Given the description of an element on the screen output the (x, y) to click on. 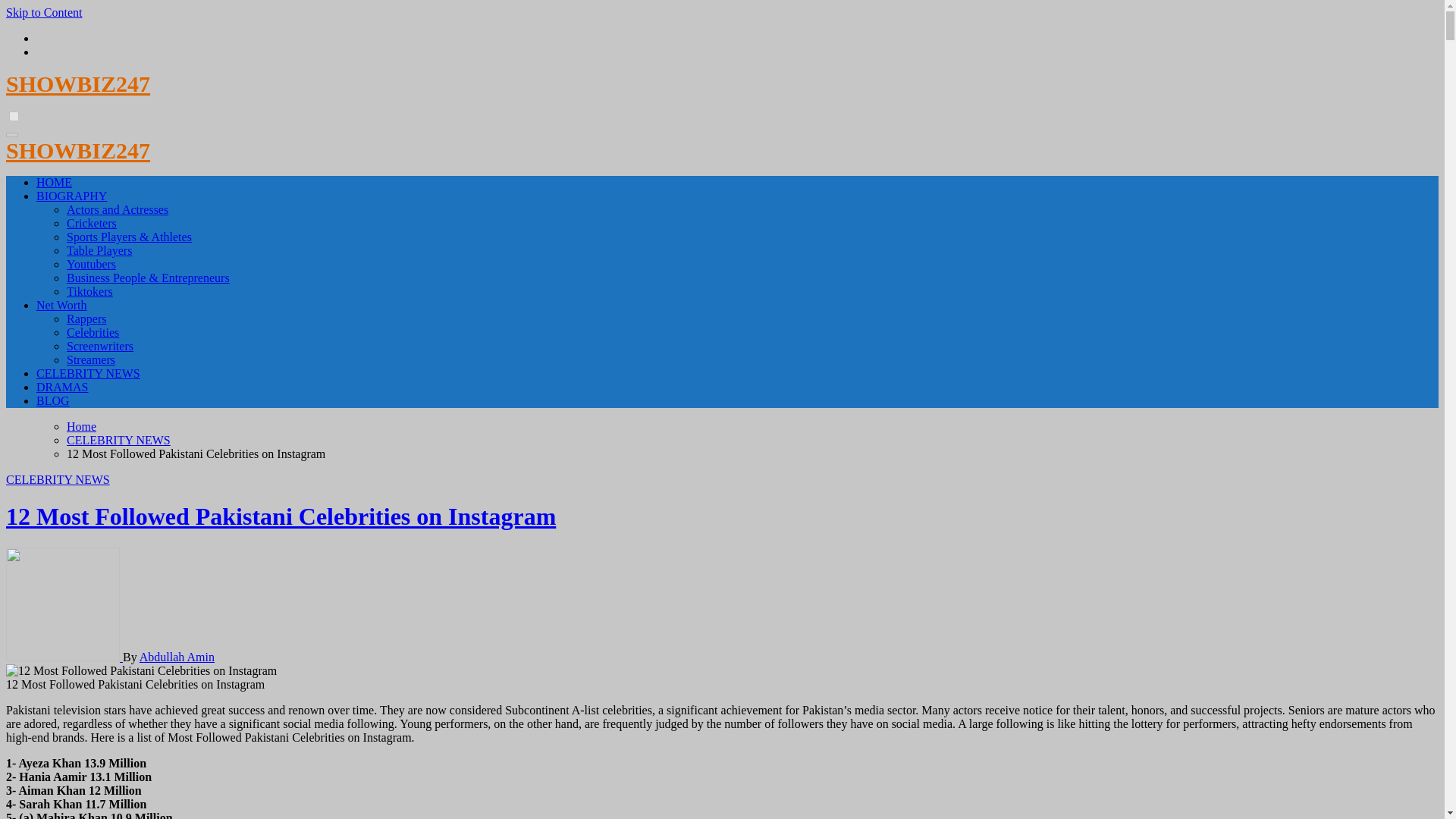
Rappers (86, 318)
Home (81, 426)
HOME (53, 182)
Cricketers (91, 223)
Screenwriters (99, 345)
Celebrities (92, 332)
CELEBRITY NEWS (87, 373)
BLOG (52, 400)
Net Worth (60, 305)
Abdullah Amin (176, 656)
